Given the description of an element on the screen output the (x, y) to click on. 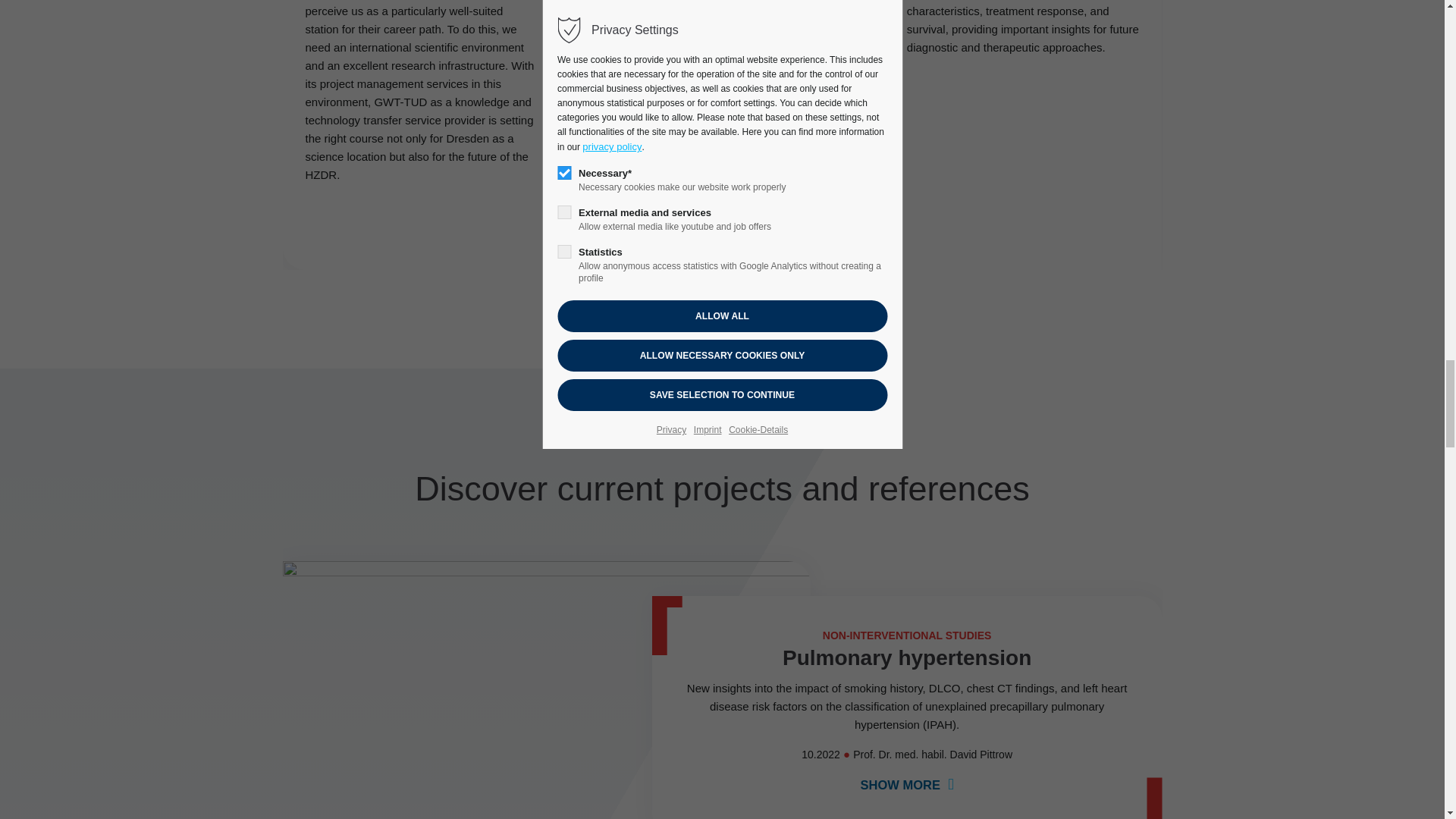
SHOW MORE (906, 784)
